Given the description of an element on the screen output the (x, y) to click on. 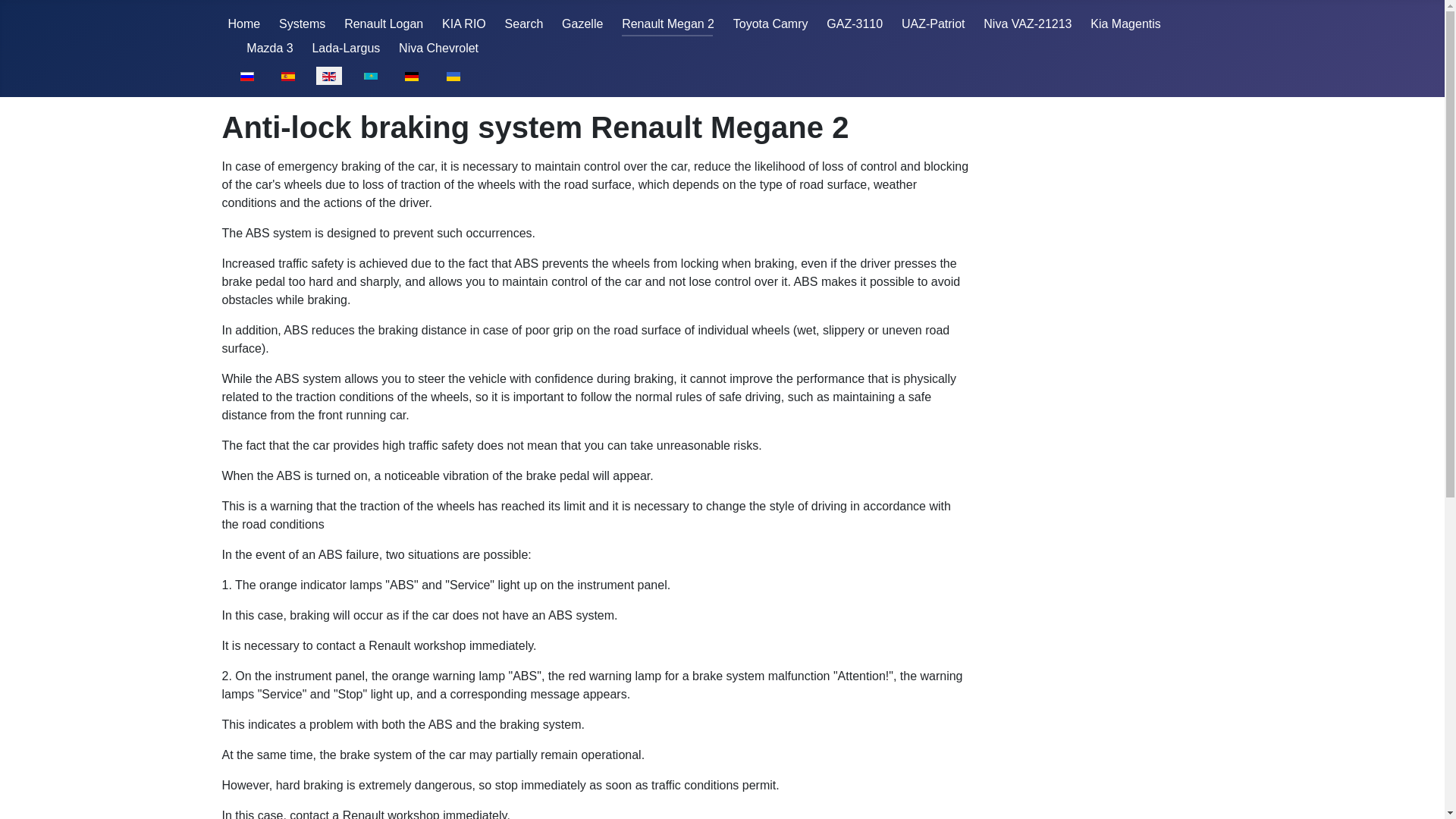
Renault Megan 2 (667, 23)
Gazelle (582, 23)
Mazda 3 (269, 47)
Renault Logan (383, 23)
KIA RIO (464, 23)
Toyota Camry (770, 23)
Lada-Largus (345, 47)
Home (243, 23)
Systems (301, 23)
Niva VAZ-21213 (1027, 23)
GAZ-3110 (854, 23)
Search (524, 23)
UAZ-Patriot (933, 23)
Niva Chevrolet (438, 47)
Kia Magentis (1125, 23)
